Given the description of an element on the screen output the (x, y) to click on. 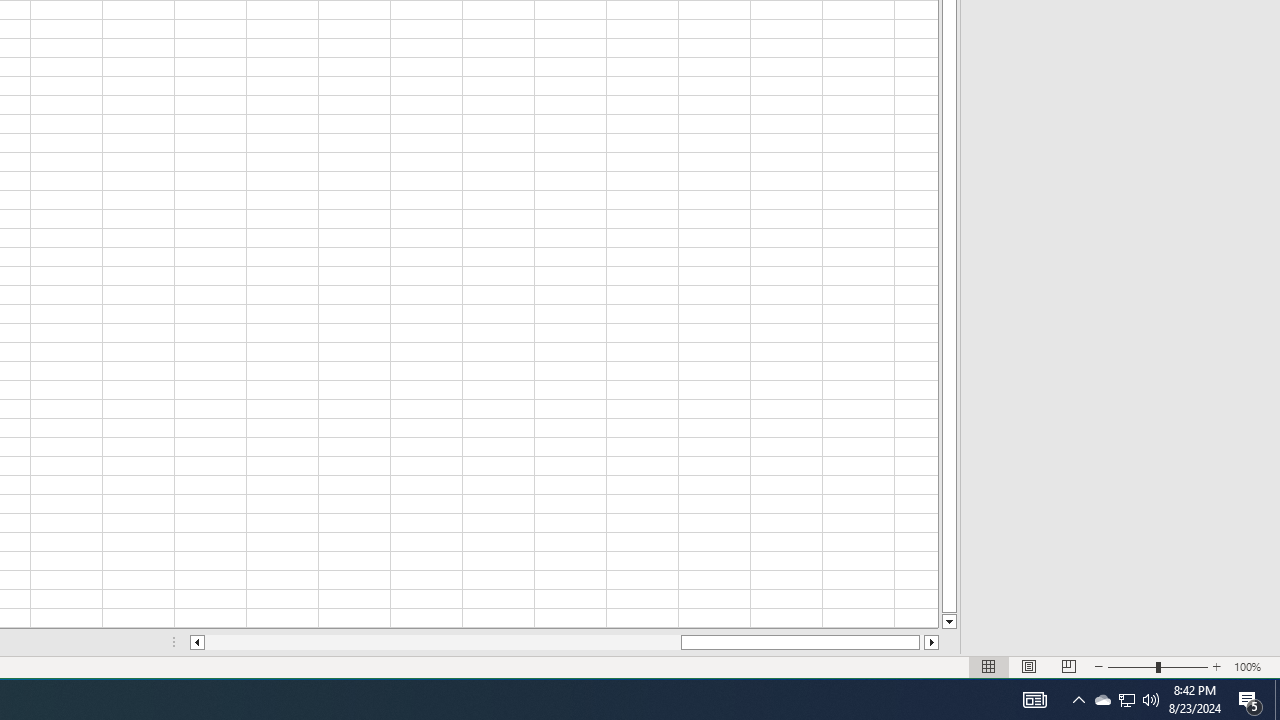
Action Center, 5 new notifications (1250, 699)
AutomationID: 4105 (1034, 699)
Q2790: 100% (1126, 699)
